Given the description of an element on the screen output the (x, y) to click on. 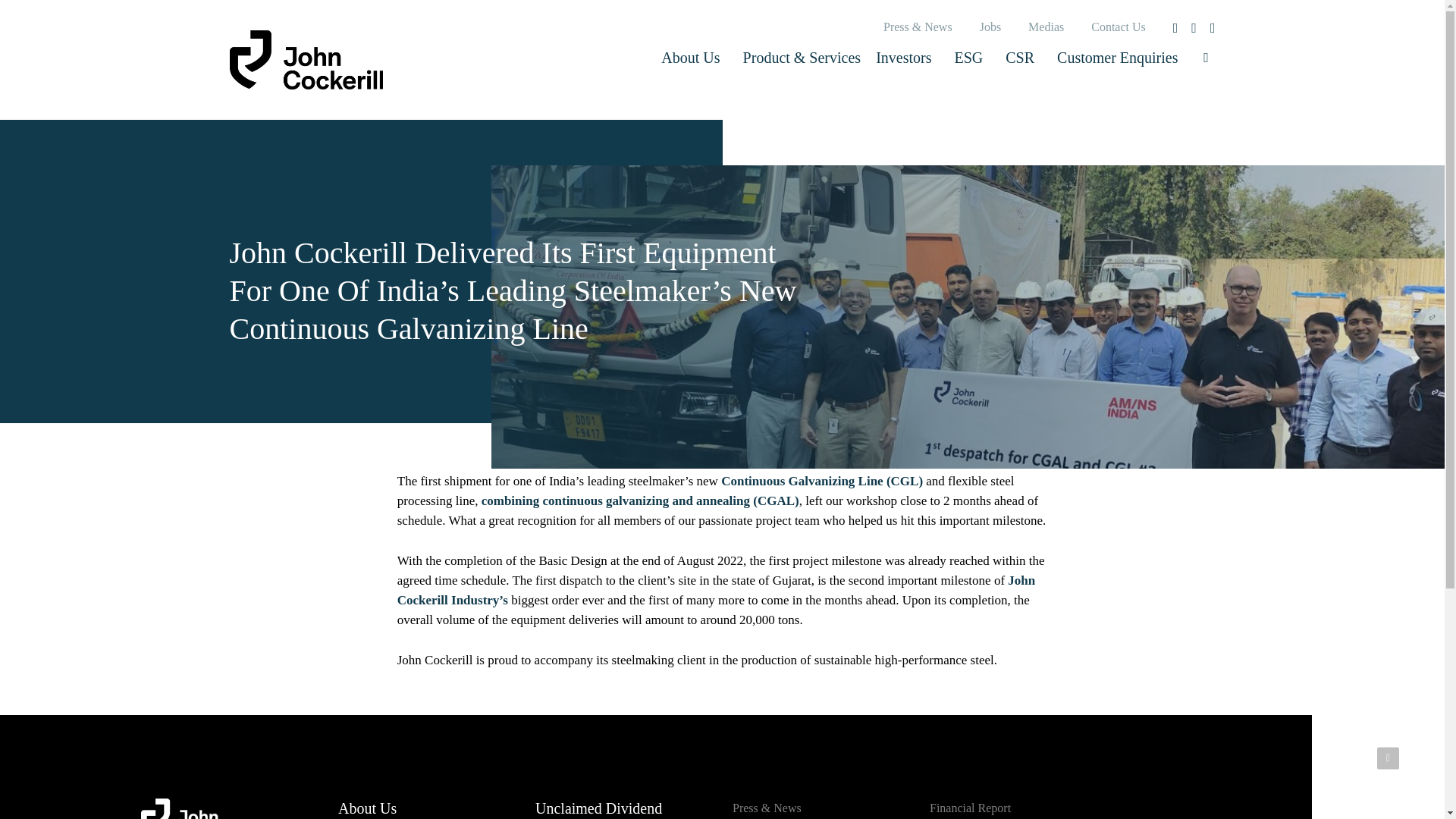
Medias (1045, 27)
Contact Us (1117, 27)
Jobs (990, 27)
Investors (906, 57)
About Us (694, 57)
